Given the description of an element on the screen output the (x, y) to click on. 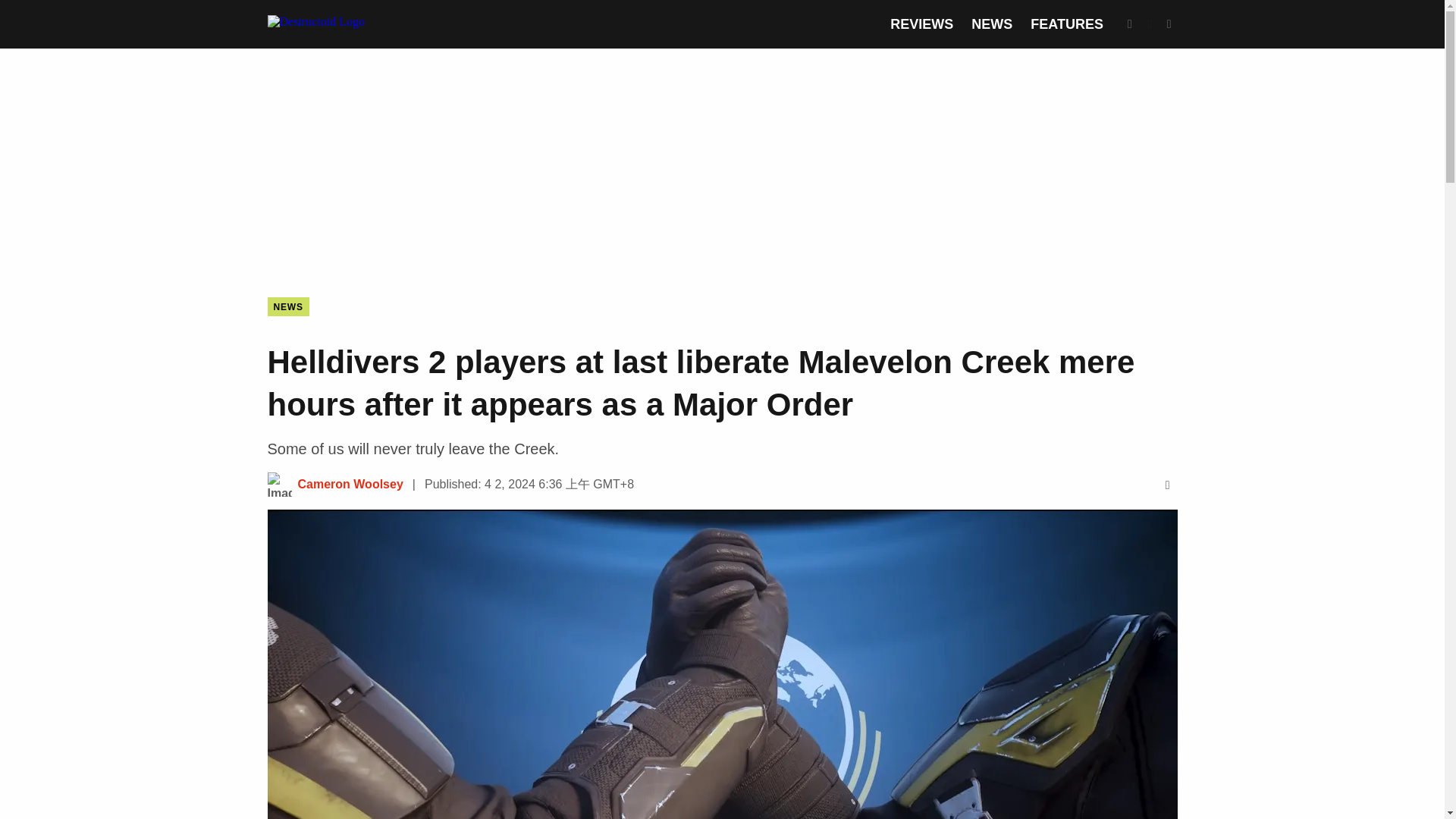
NEWS (287, 306)
FEATURES (1066, 23)
REVIEWS (921, 23)
NEWS (991, 23)
Dark Mode (1149, 23)
Search (1129, 23)
Expand Menu (1168, 23)
